Given the description of an element on the screen output the (x, y) to click on. 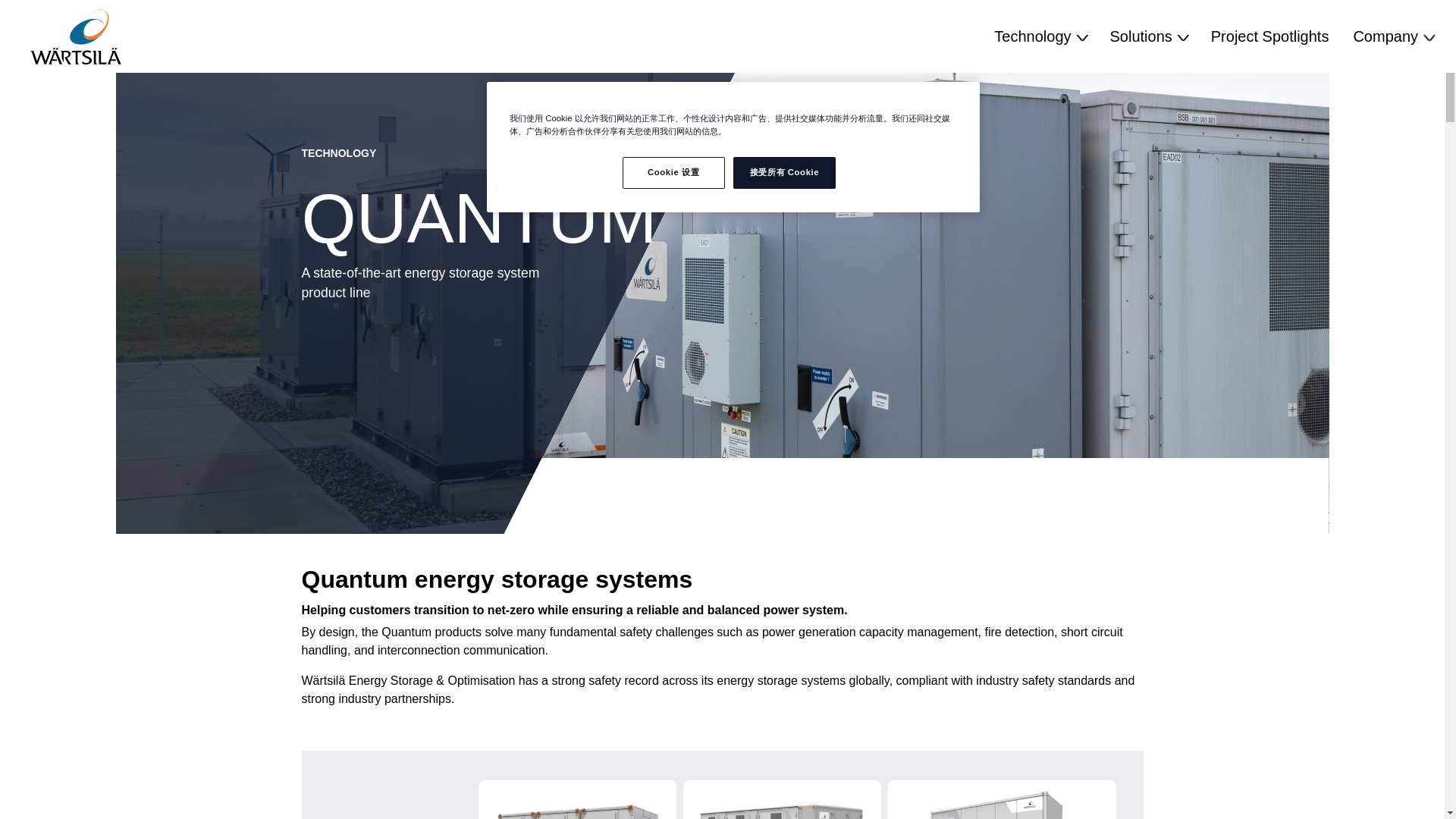
Technology (1039, 36)
Company (1392, 36)
Project Spotlights (1270, 36)
Solutions (1147, 36)
